Given the description of an element on the screen output the (x, y) to click on. 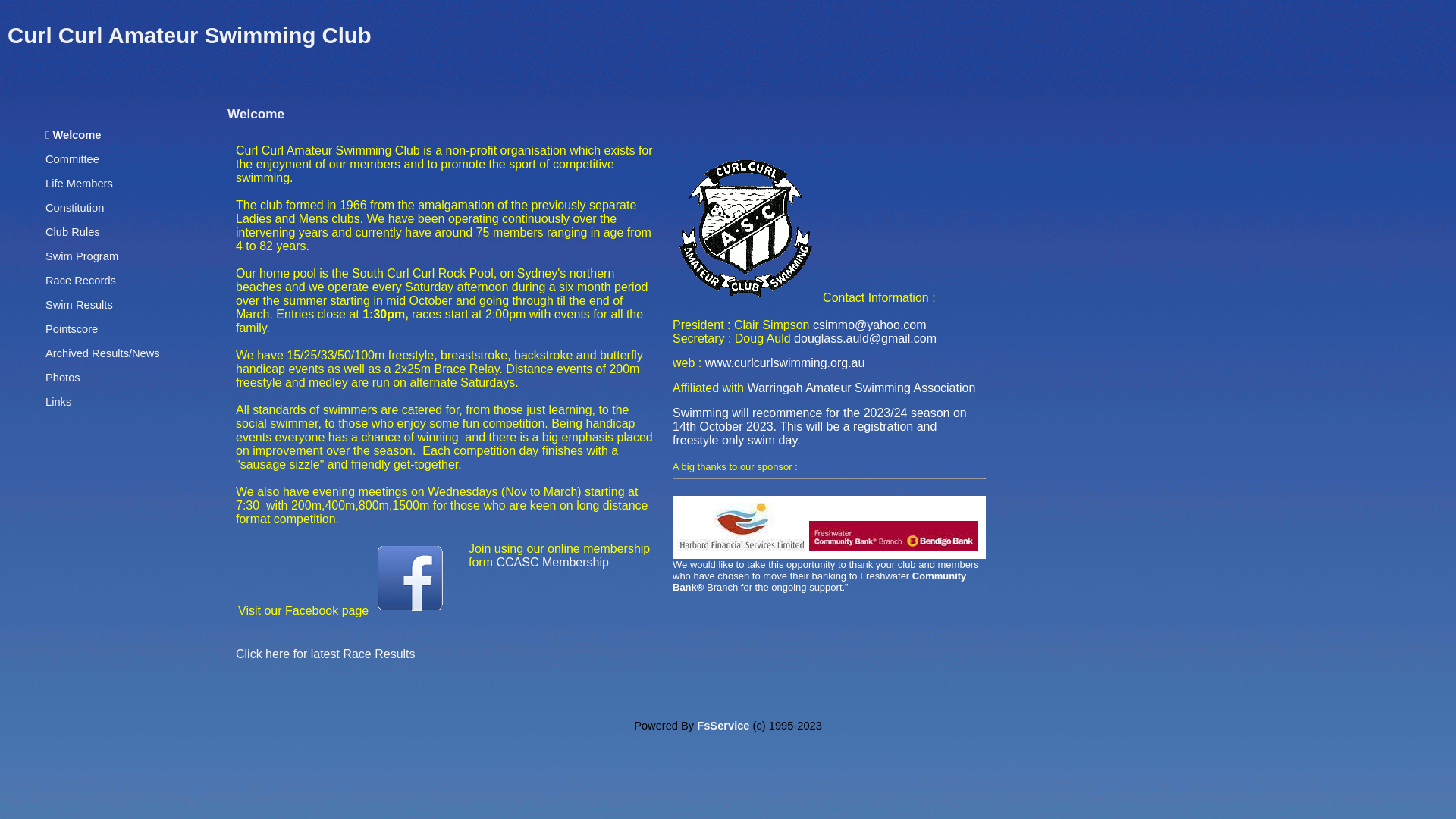
Photos Element type: text (62, 377)
Pointscore Element type: text (71, 329)
Constitution Element type: text (74, 207)
Links Element type: text (58, 401)
Race Records Element type: text (80, 280)
Click here for latest Race Results Element type: text (325, 653)
FsService Element type: text (722, 725)
Warringah Amateur Swimming Association Element type: text (860, 387)
Committee Element type: text (72, 159)
Archived Results/News Element type: text (102, 353)
Swim Program Element type: text (81, 256)
csimmo@yahoo.com Element type: text (869, 324)
Life Members Element type: text (78, 183)
douglass.auld@gmail.com Element type: text (864, 338)
Swim Results Element type: text (78, 304)
www.curlcurlswimming.org.au Element type: text (785, 362)
CCASC Membership Element type: text (551, 561)
Club Rules Element type: text (72, 231)
